Given the description of an element on the screen output the (x, y) to click on. 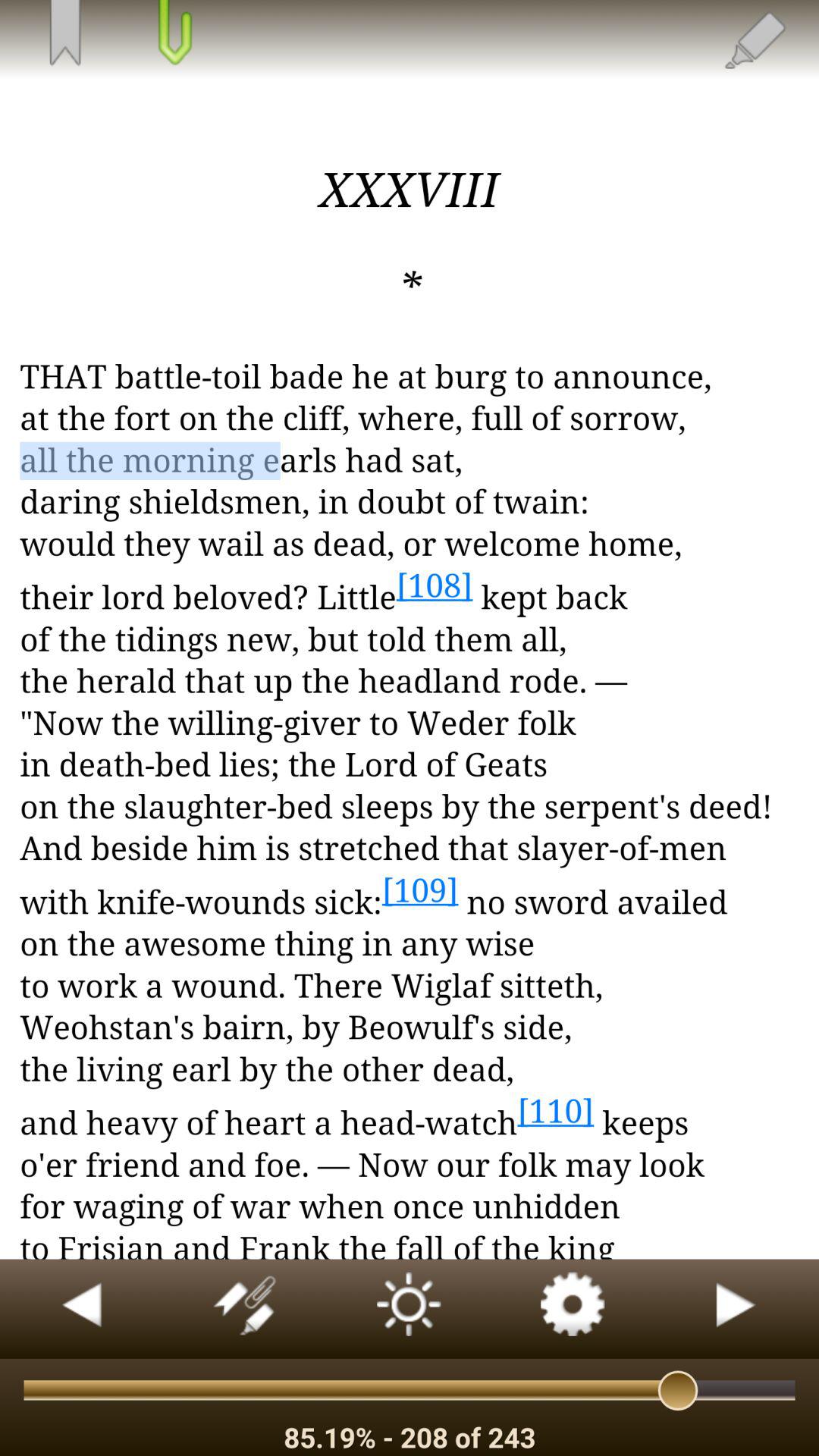
change brightness (409, 1308)
